Given the description of an element on the screen output the (x, y) to click on. 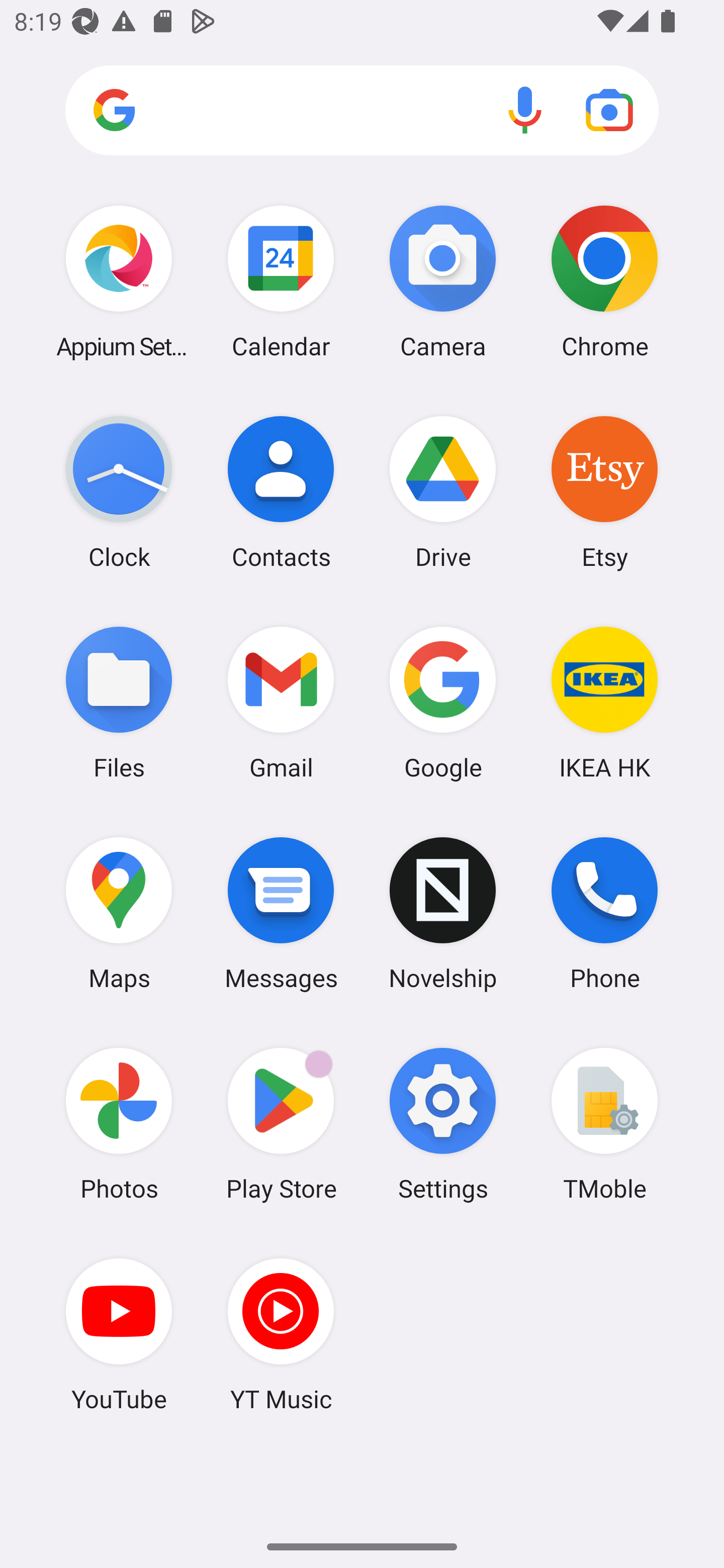
Search apps, web and more (361, 110)
Voice search (524, 109)
Google Lens (608, 109)
Appium Settings (118, 281)
Calendar (280, 281)
Camera (443, 281)
Chrome (604, 281)
Clock (118, 492)
Contacts (280, 492)
Drive (443, 492)
Etsy (604, 492)
Files (118, 702)
Gmail (280, 702)
Google (443, 702)
IKEA HK (604, 702)
Maps (118, 913)
Messages (280, 913)
Novelship (443, 913)
Phone (604, 913)
Photos (118, 1124)
Play Store Play Store has 1 notification (280, 1124)
Settings (443, 1124)
TMoble (604, 1124)
YouTube (118, 1334)
YT Music (280, 1334)
